Given the description of an element on the screen output the (x, y) to click on. 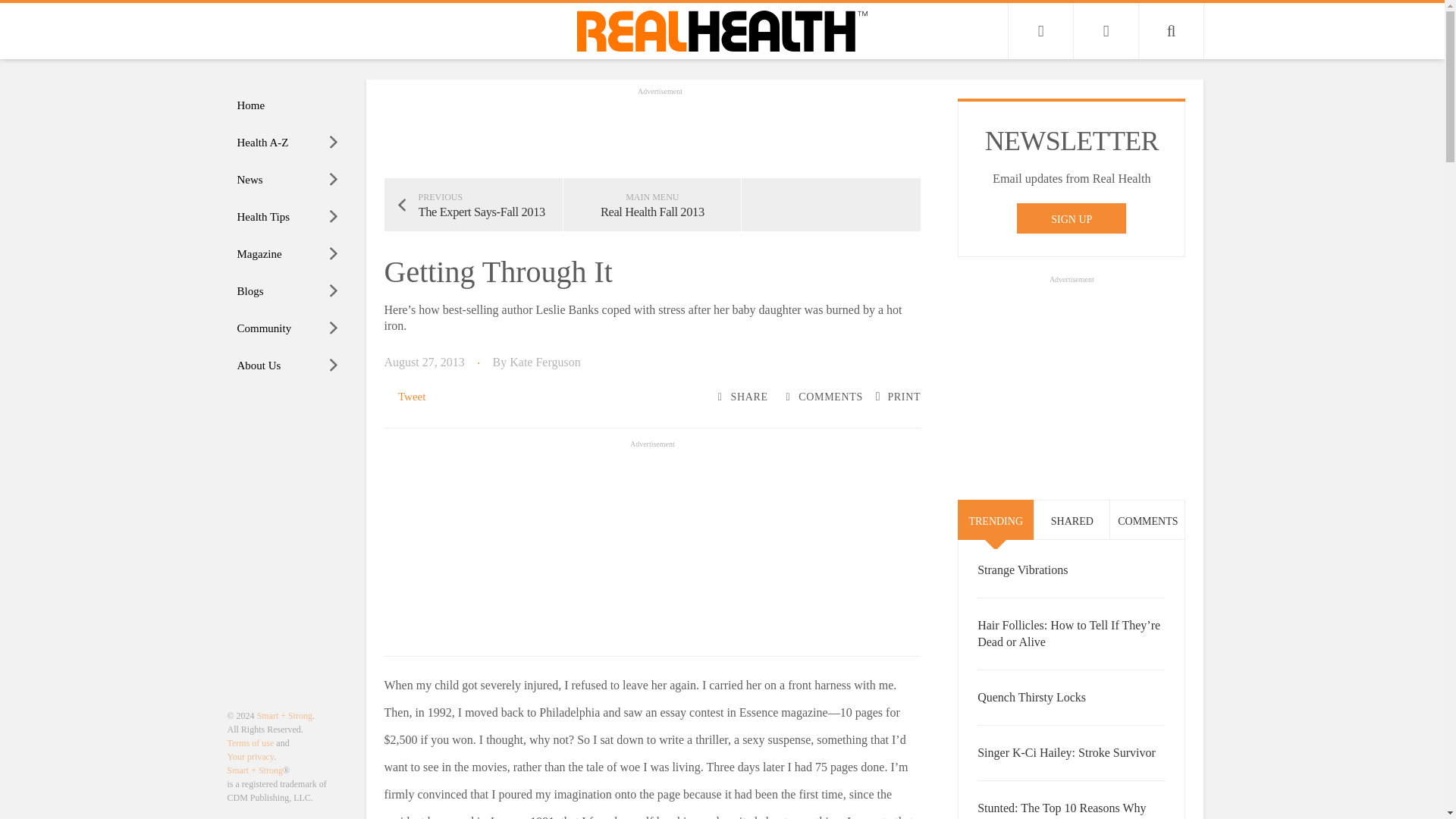
3rd party ad content (660, 132)
Home (288, 105)
Health A-Z (288, 142)
News (288, 180)
3rd party ad content (1071, 381)
3rd party ad content (651, 545)
Health Tips (288, 217)
